Given the description of an element on the screen output the (x, y) to click on. 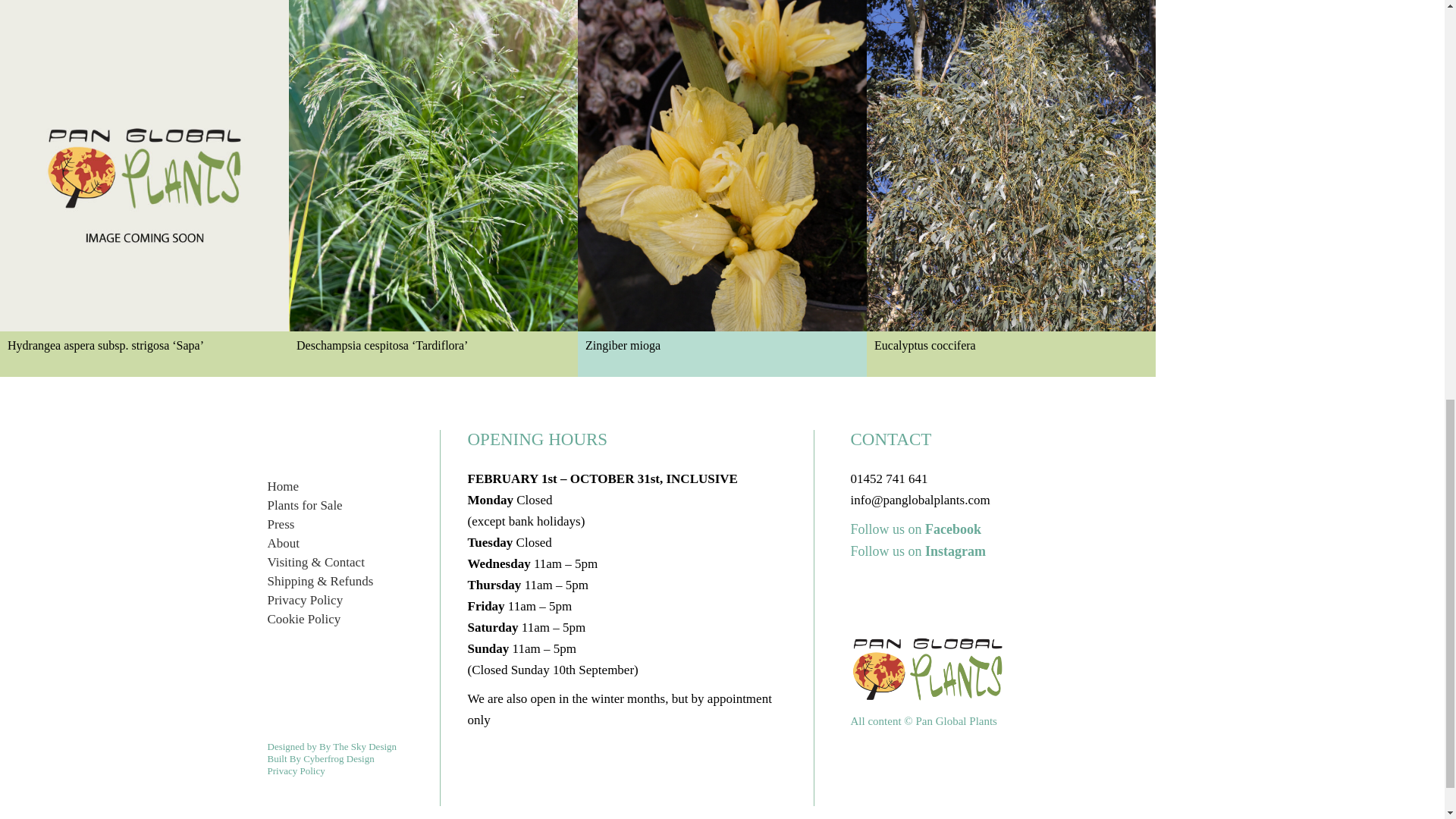
Privacy Policy (295, 770)
Cyberfrog Design (338, 758)
Cookie Policy (303, 618)
By The Sky Design (357, 746)
Plants for Sale (304, 504)
Home (282, 486)
Zingiber mioga (722, 188)
About (282, 543)
Eucalyptus coccifera (1011, 188)
Privacy Policy (304, 599)
Press (280, 523)
